Given the description of an element on the screen output the (x, y) to click on. 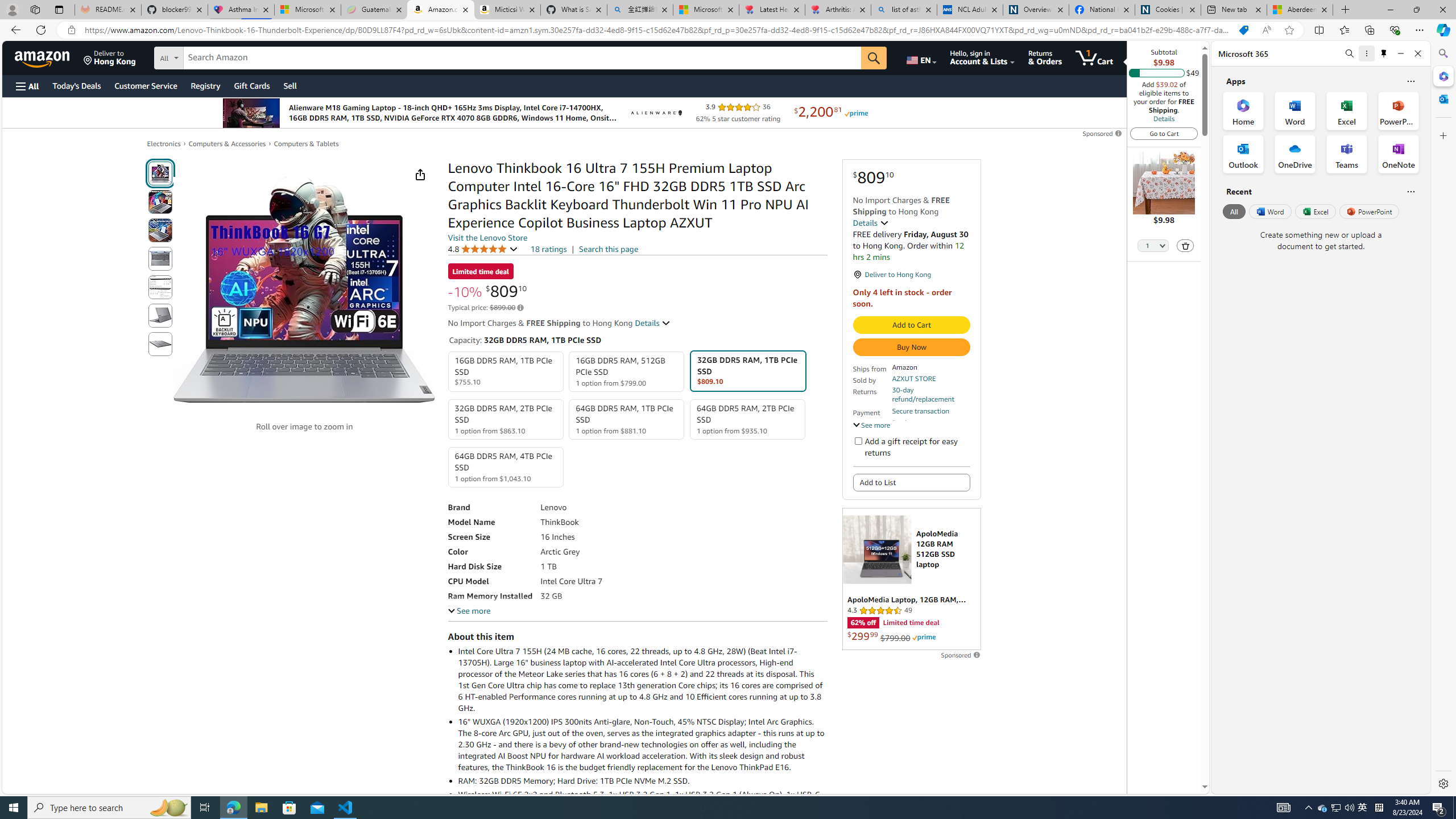
See more (468, 610)
Gift Cards (251, 85)
Skip to main content (48, 56)
Choose a language for shopping. (920, 57)
Details (1163, 118)
More options (1366, 53)
64GB DDR5 RAM, 4TB PCIe SSD 1 option from $1,043.10 (505, 466)
Amazon (43, 57)
Sell (290, 85)
